Given the description of an element on the screen output the (x, y) to click on. 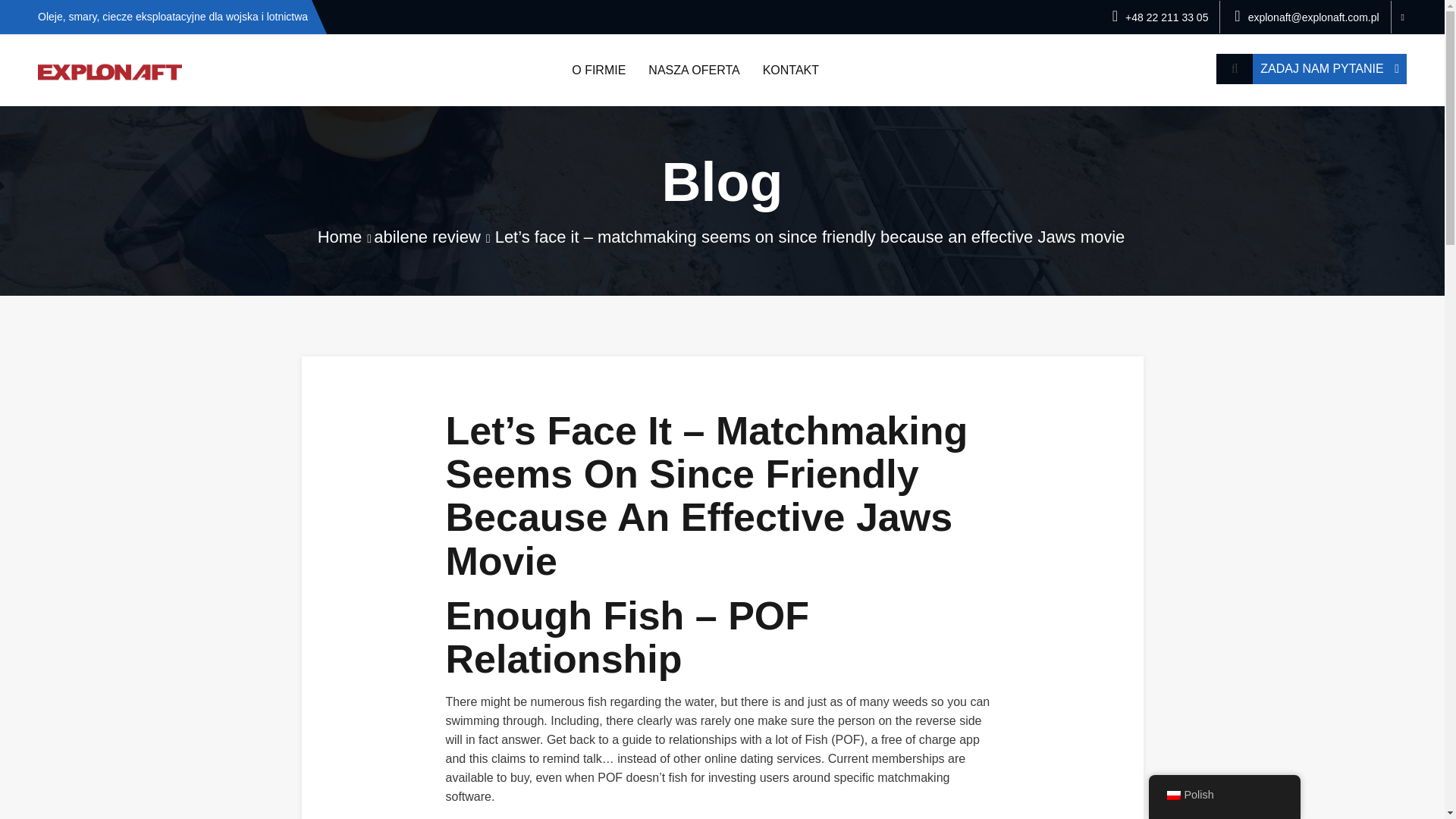
ZADAJ NAM PYTANIE (1329, 69)
NASZA OFERTA (694, 70)
Home (339, 236)
O FIRMIE (598, 70)
KONTAKT (790, 70)
abilene review (427, 236)
Home (339, 236)
Polish (1224, 795)
Polish (1172, 795)
